Given the description of an element on the screen output the (x, y) to click on. 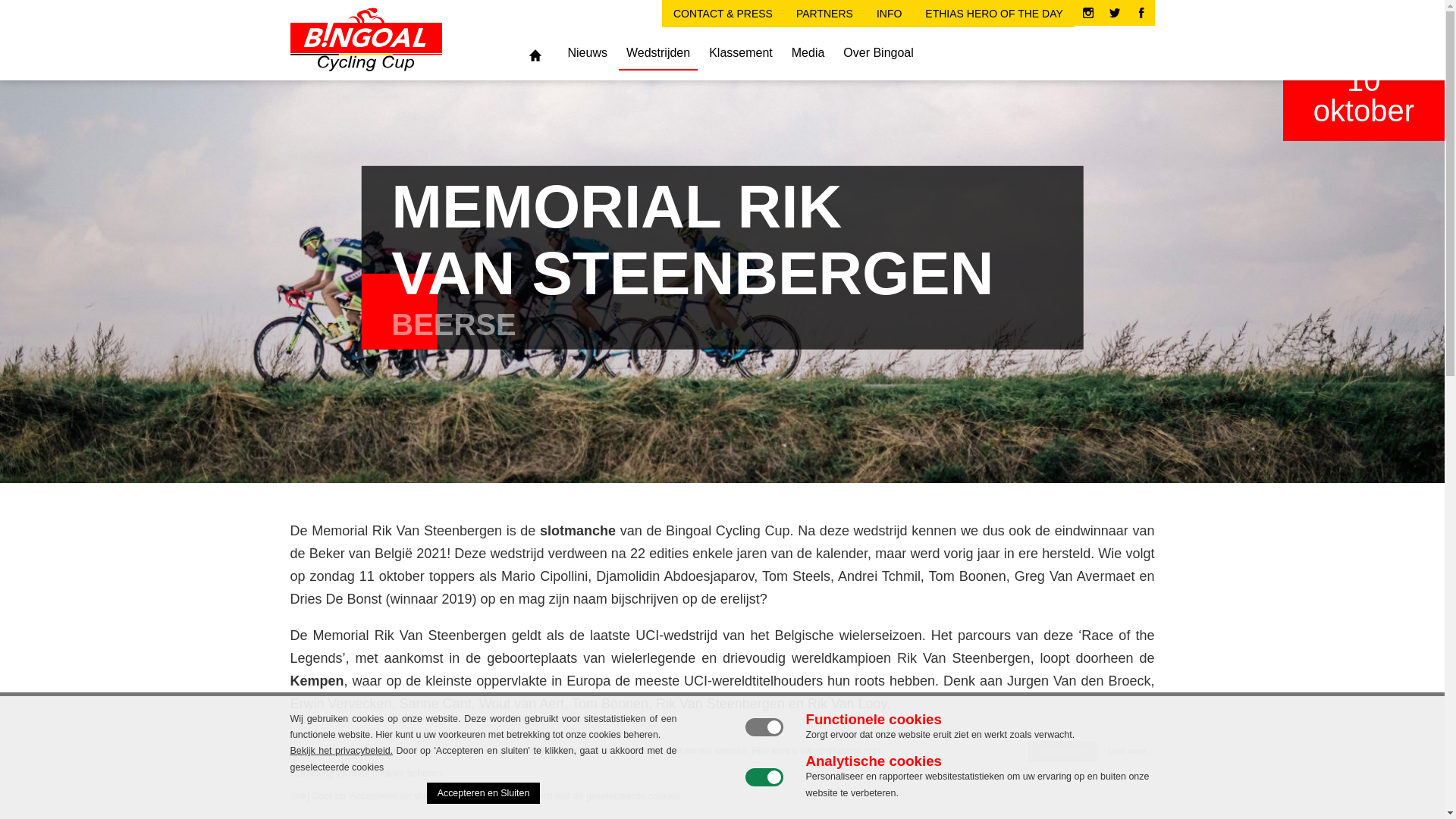
Klassement Element type: text (740, 52)
Facebook Element type: hover (1141, 12)
Over Bingoal Element type: text (878, 52)
Accepteren Element type: text (1061, 751)
Bingoal Cyling Cup Element type: hover (391, 39)
Instagram Element type: hover (1088, 12)
ETHIAS HERO OF THE DAY Element type: text (993, 13)
Media Element type: text (808, 52)
Bekijk het privacybeleid. Element type: text (340, 750)
INFO Element type: text (889, 13)
Nieuws Element type: text (586, 52)
PARTNERS Element type: text (824, 13)
Twitter Element type: hover (1114, 12)
Accepteren en Sluiten Element type: text (482, 792)
Wedstrijden Element type: text (657, 52)
CONTACT & PRESS Element type: text (723, 13)
